Given the description of an element on the screen output the (x, y) to click on. 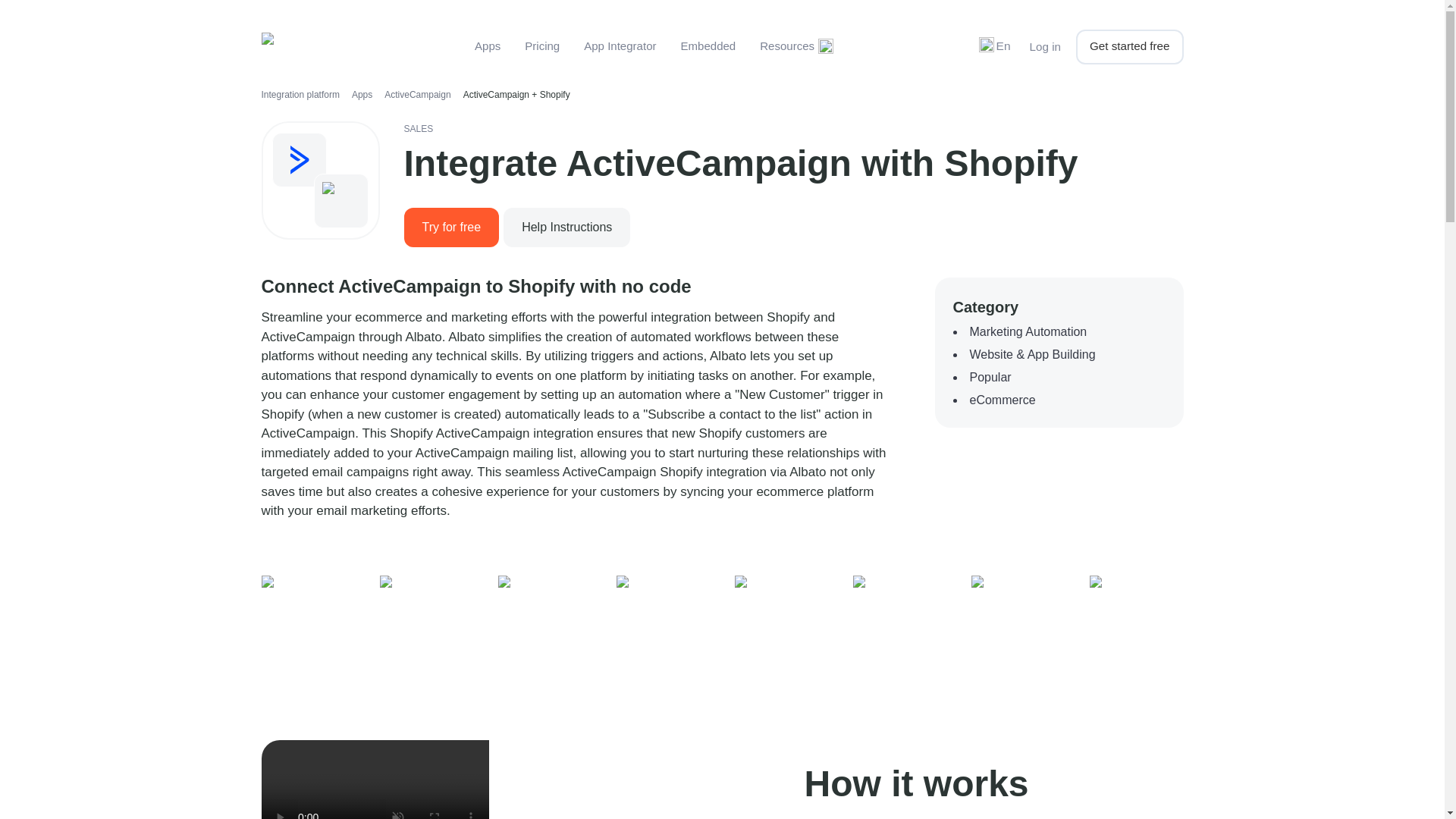
Help Instructions (566, 226)
ActiveCampaign (416, 94)
Pricing (541, 45)
App Integrator (619, 45)
Log in (1044, 47)
Apps (362, 94)
Embedded (708, 45)
Get started free (1129, 47)
Integration platform (299, 94)
Apps (487, 45)
Try for free (451, 227)
